Given the description of an element on the screen output the (x, y) to click on. 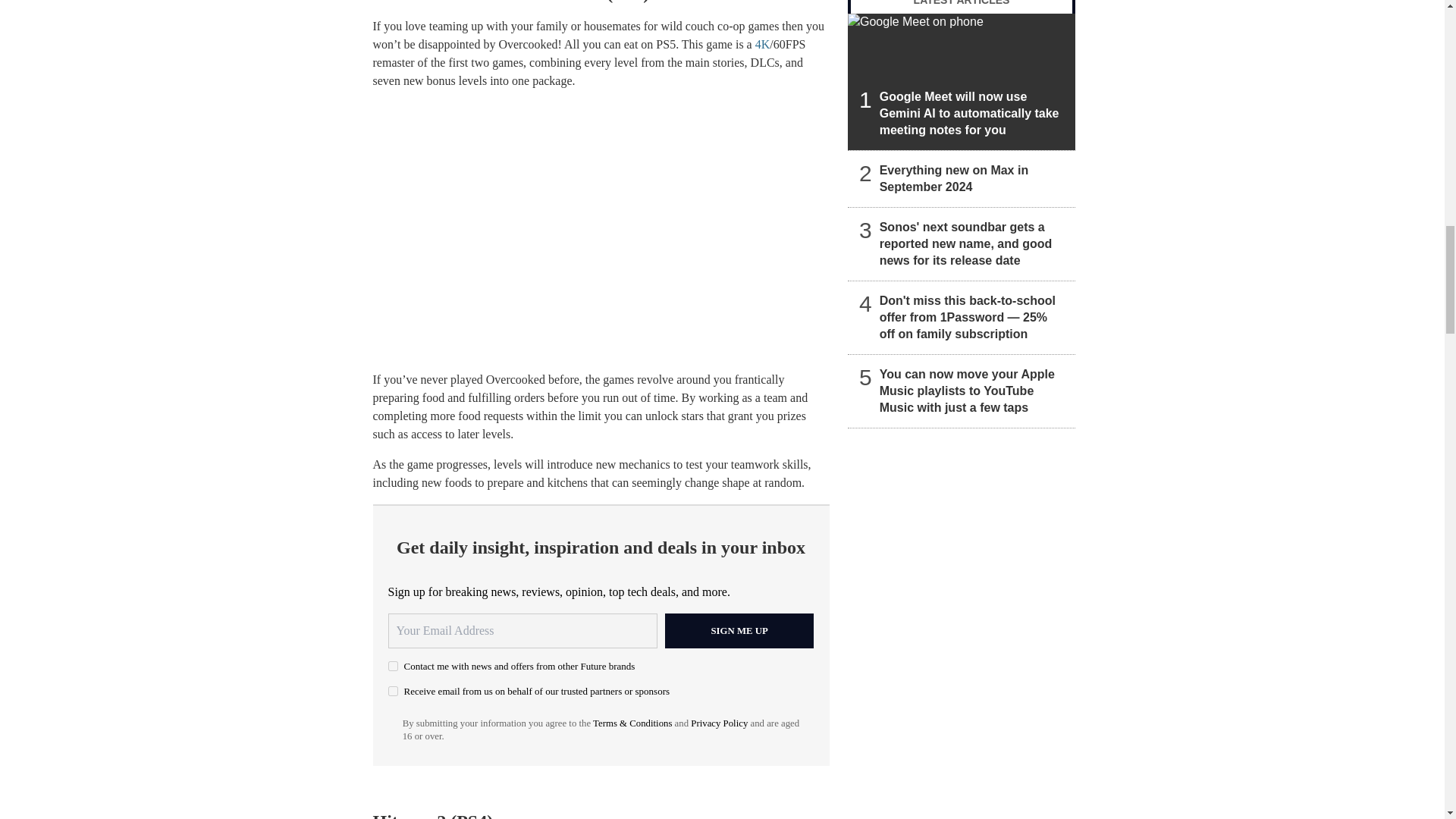
Sign me up (739, 630)
on (392, 691)
on (392, 665)
